Given the description of an element on the screen output the (x, y) to click on. 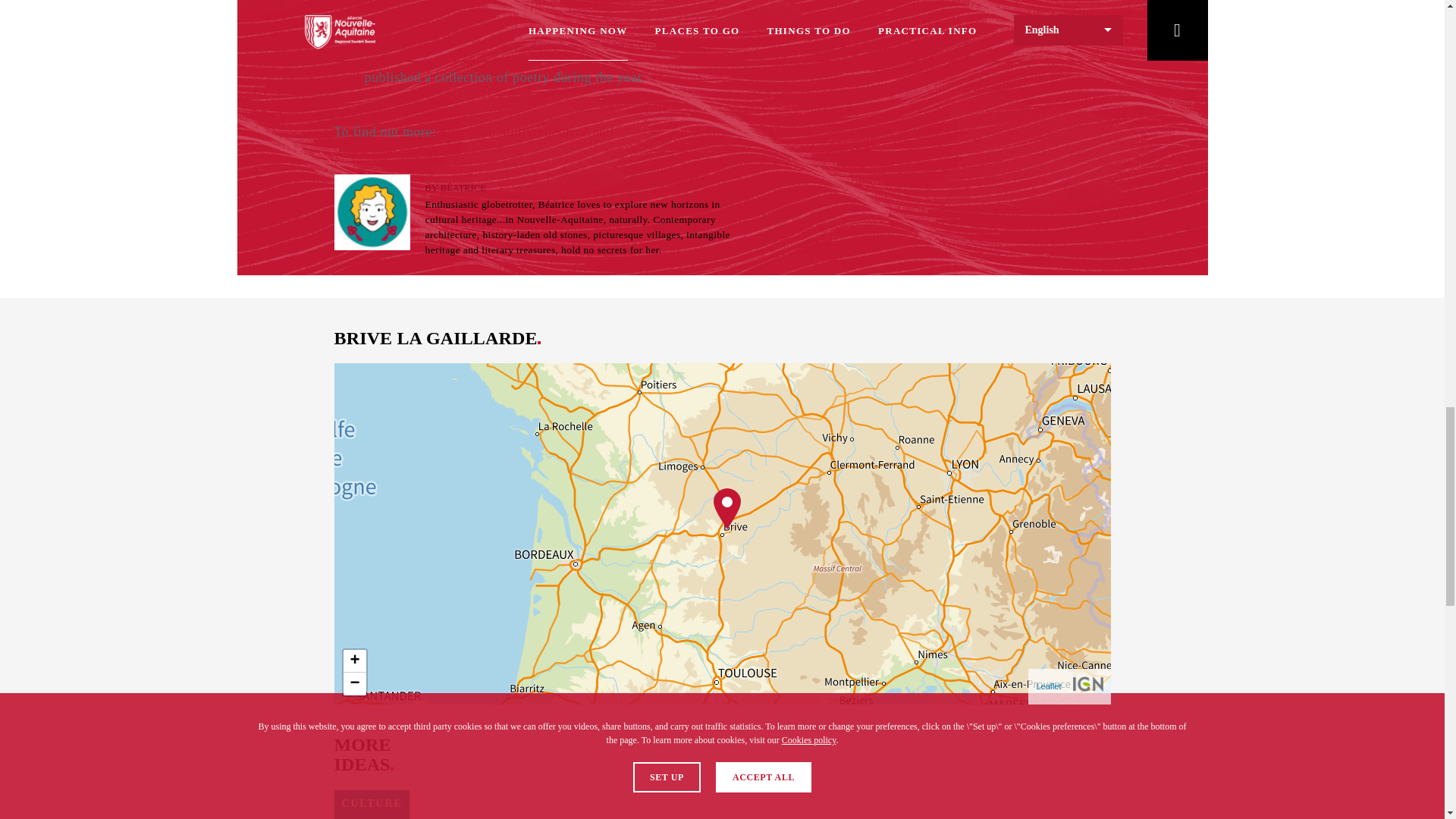
Zoom out (353, 683)
A JS library for interactive maps (1048, 686)
Culture (371, 804)
Zoom in (353, 661)
